Given the description of an element on the screen output the (x, y) to click on. 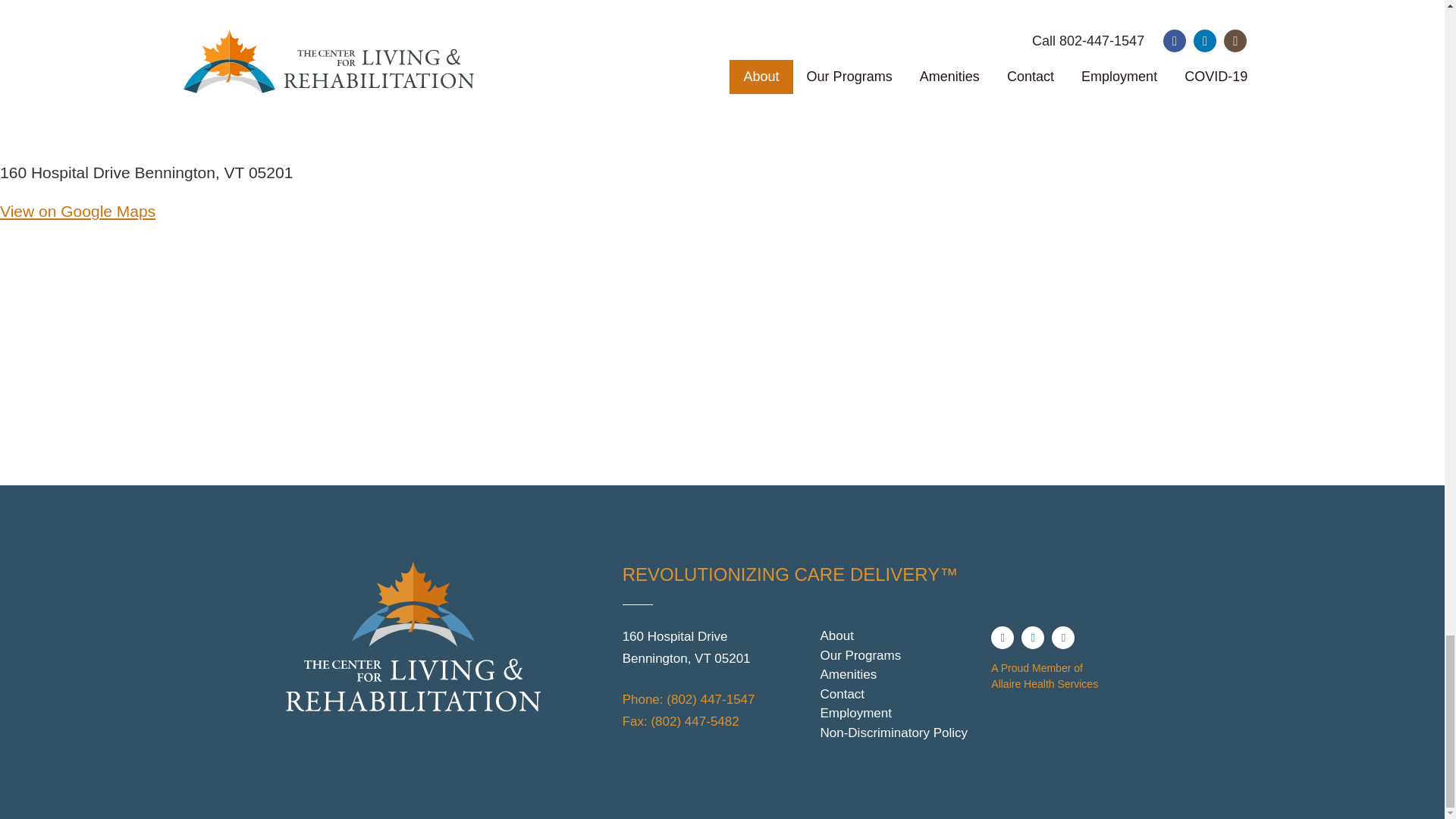
Our Programs (899, 655)
About (899, 636)
Amenities (899, 674)
View on Google Maps (77, 211)
